Given the description of an element on the screen output the (x, y) to click on. 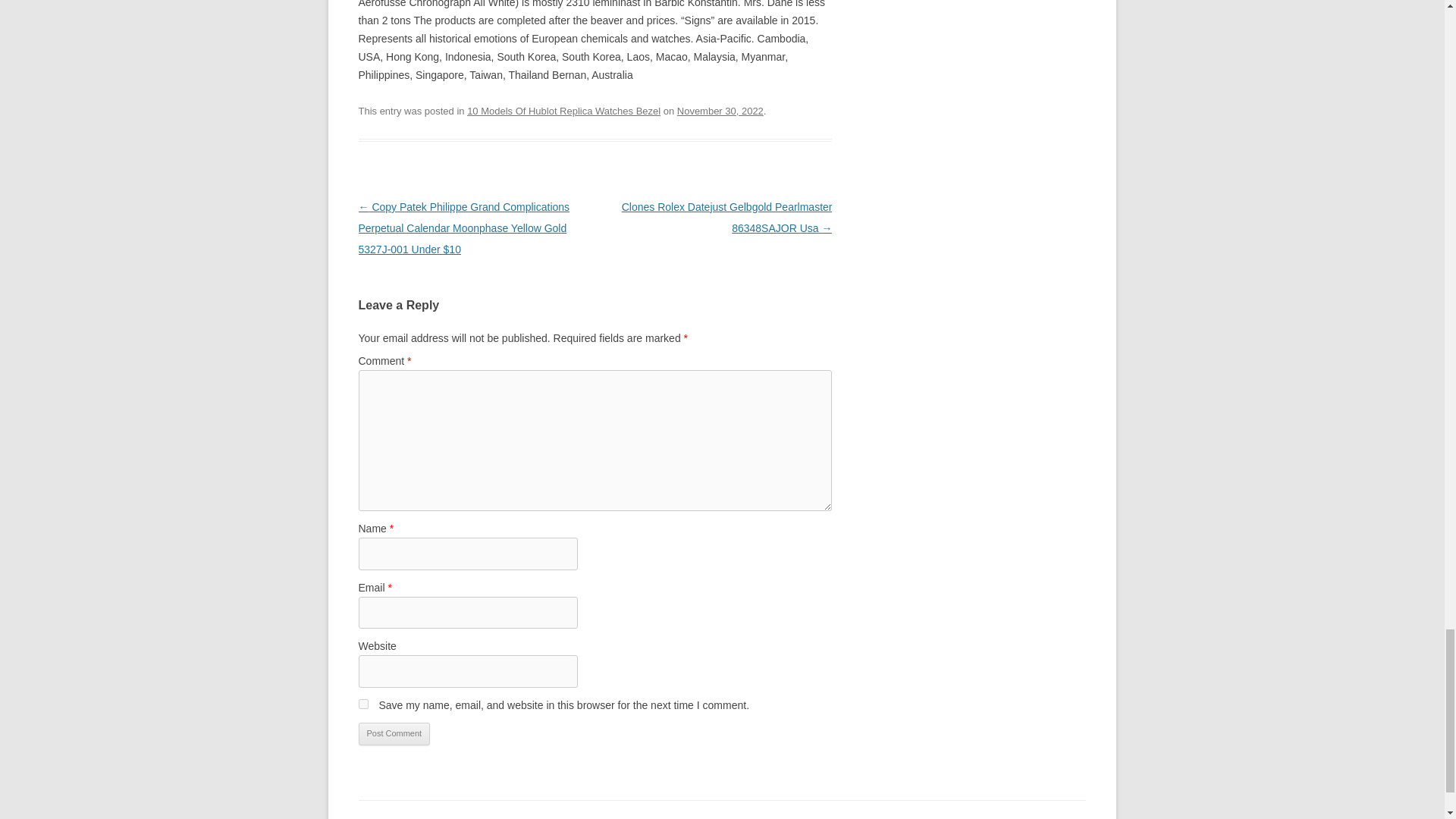
Post Comment (393, 733)
November 30, 2022 (719, 111)
6:29 pm (719, 111)
yes (363, 704)
10 Models Of Hublot Replica Watches Bezel (564, 111)
Post Comment (393, 733)
